Given the description of an element on the screen output the (x, y) to click on. 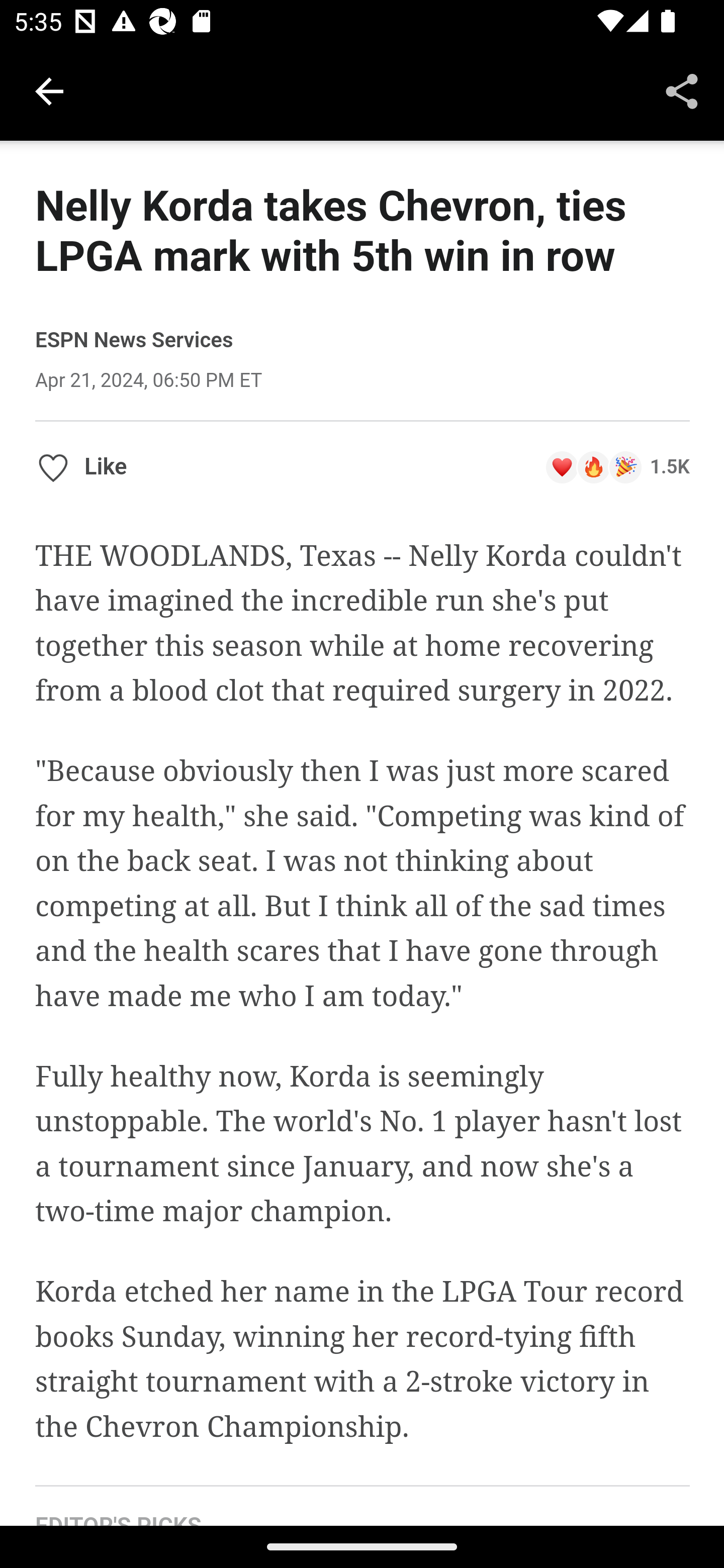
Navigate up (49, 91)
Share (681, 90)
